Given the description of an element on the screen output the (x, y) to click on. 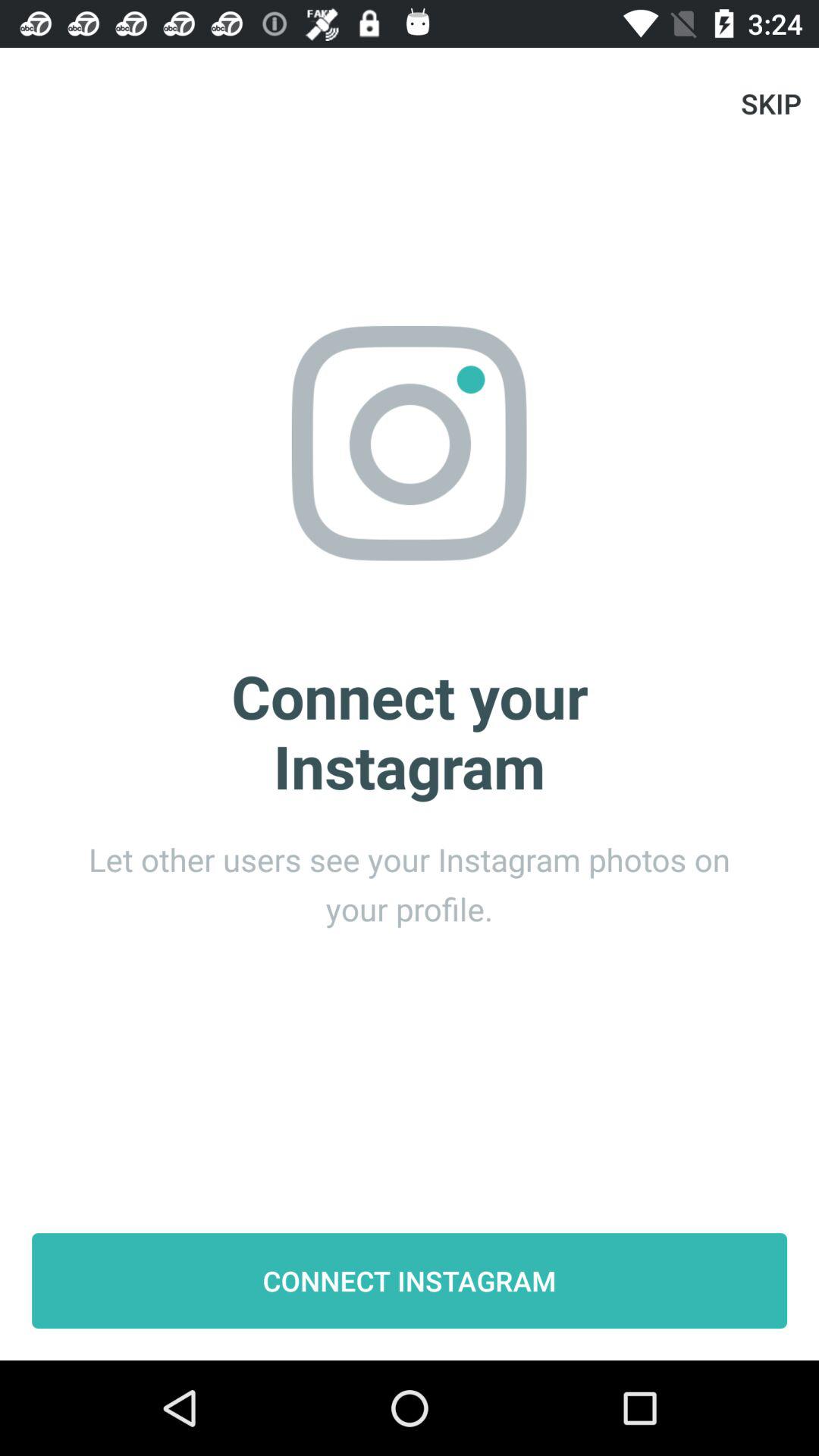
turn on icon above let other users icon (771, 103)
